Given the description of an element on the screen output the (x, y) to click on. 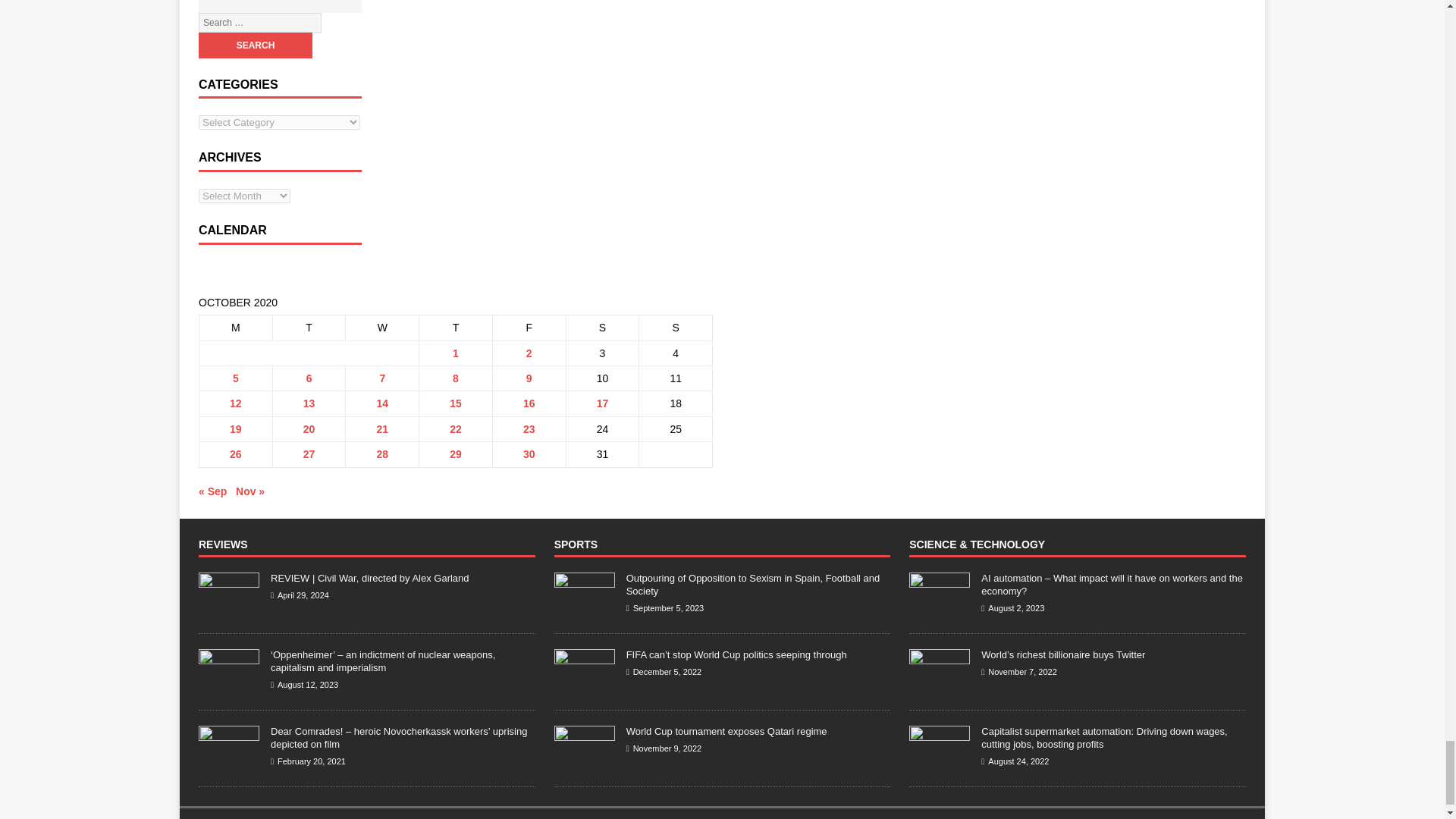
Search (255, 45)
Search (255, 45)
